Given the description of an element on the screen output the (x, y) to click on. 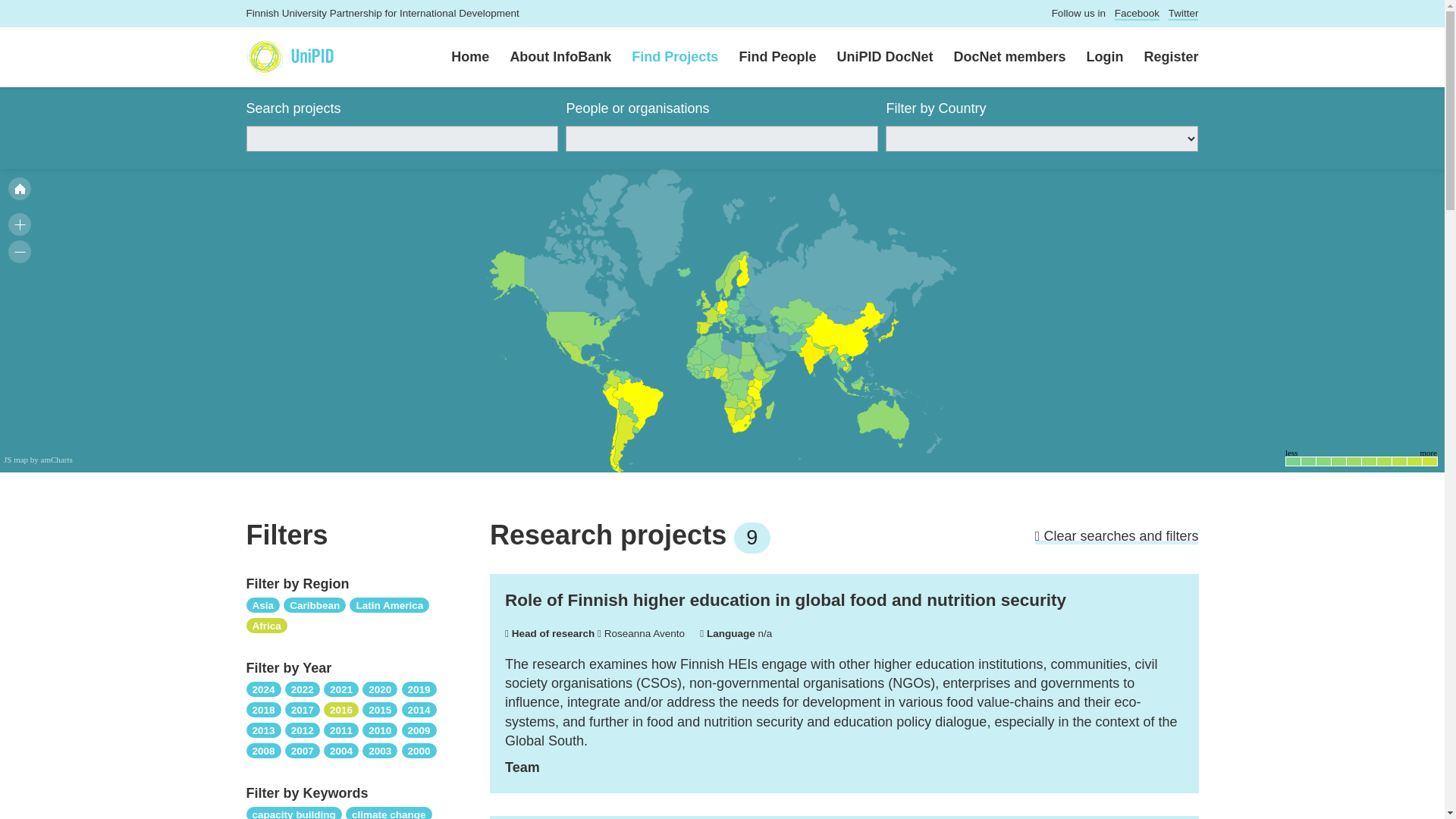
Register (1160, 56)
About InfoBank (550, 56)
2010 (379, 729)
2021 (340, 688)
2004 (340, 749)
2014 (418, 708)
Find Projects (664, 56)
2022 (302, 688)
2018 (263, 708)
2016 (340, 708)
2000 (418, 749)
2012 (302, 729)
2019 (418, 688)
DocNet members (999, 56)
2011 (340, 729)
